Given the description of an element on the screen output the (x, y) to click on. 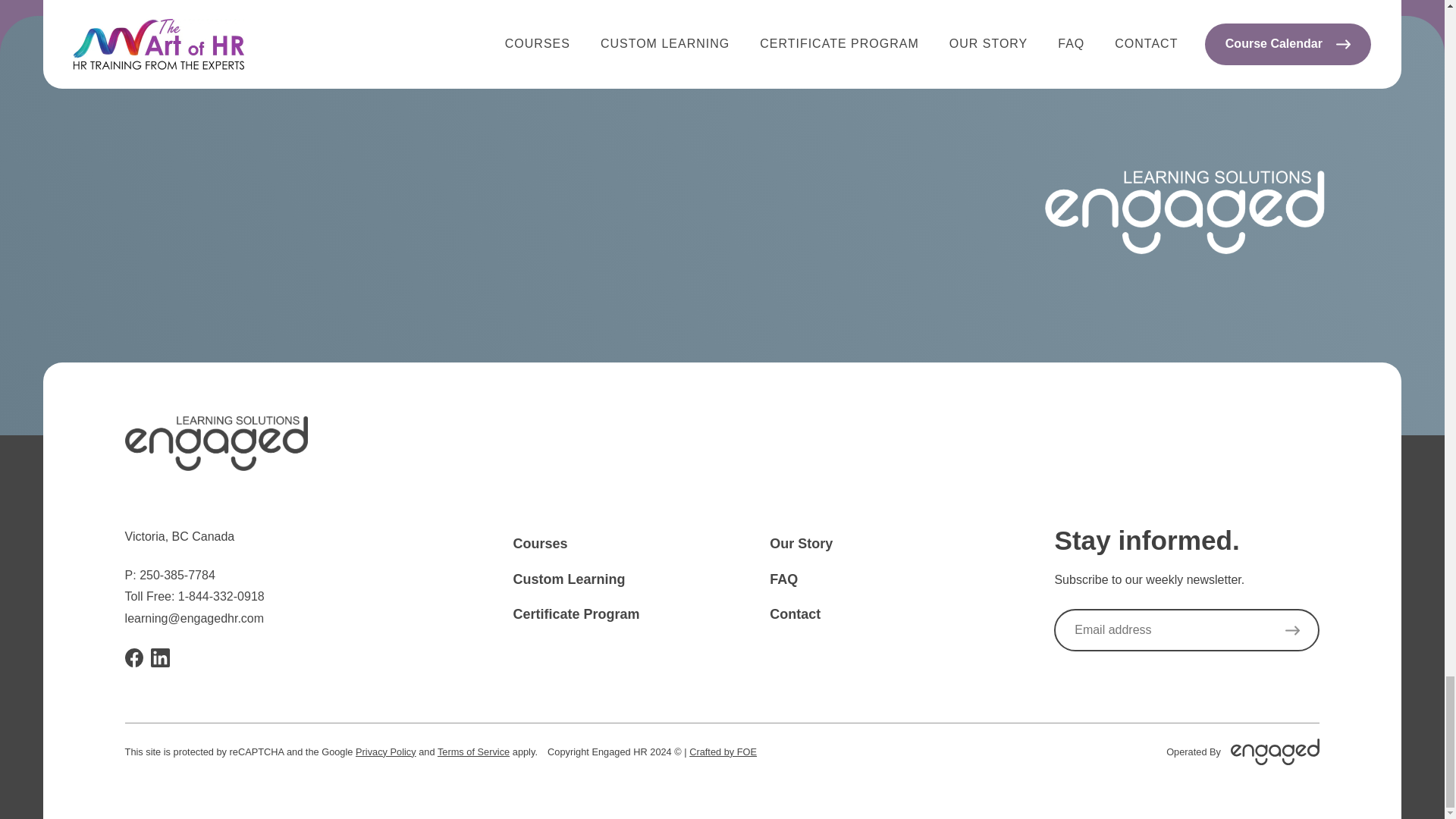
Our Story (801, 543)
FAQ (783, 579)
Submit (1292, 630)
Submit (1292, 630)
Certificate Program (575, 614)
Custom Learning (568, 579)
P: 250-385-7784 (170, 575)
Toll Free: 1-844-332-0918 (194, 596)
Contact (795, 614)
Courses (539, 543)
